Given the description of an element on the screen output the (x, y) to click on. 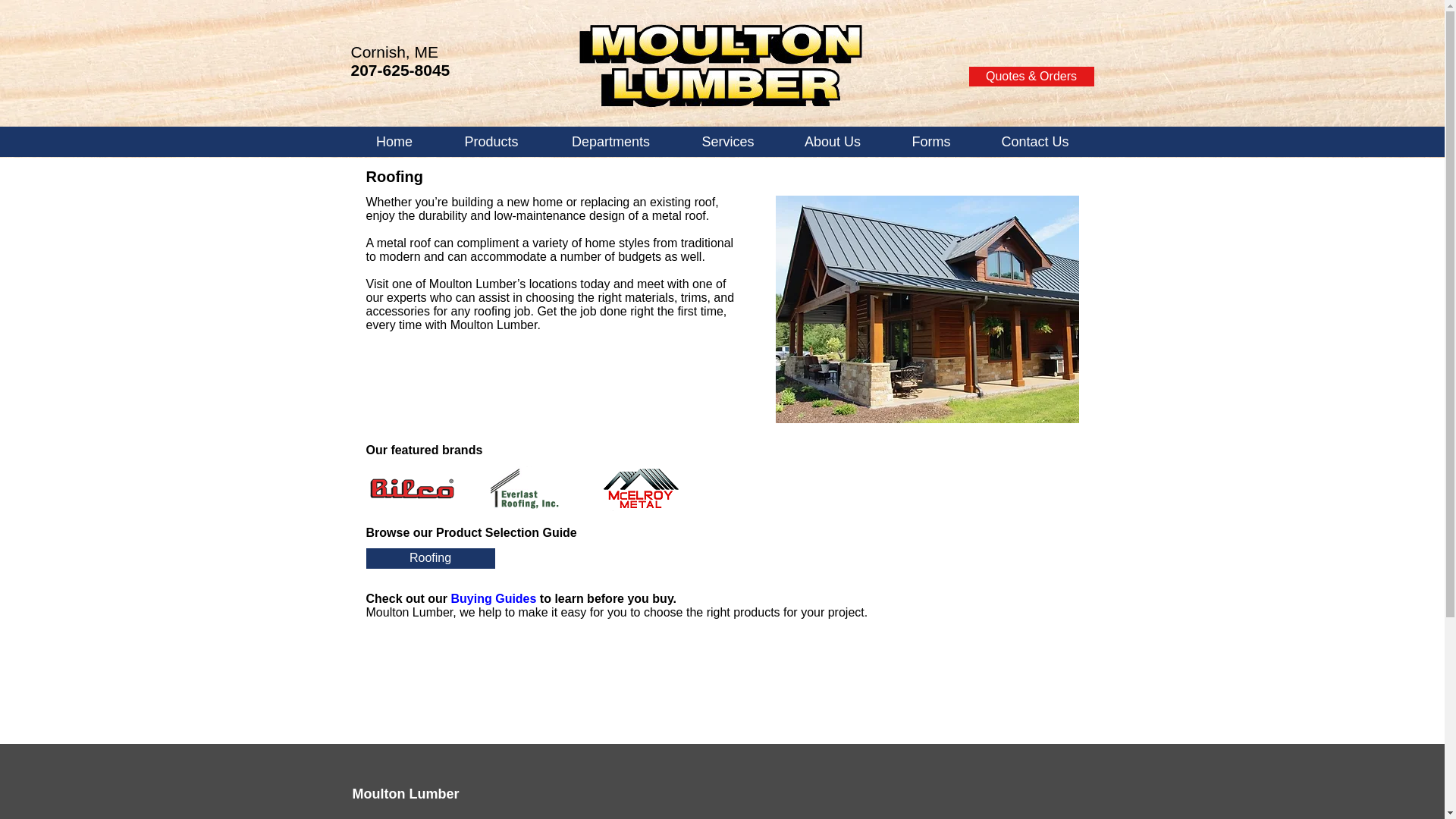
Services (727, 141)
Click image for Everlast Roofing products (524, 488)
Roofing (430, 557)
207-625-8045 (399, 69)
Click image for McElroy products (638, 488)
Click image for Bilco products (411, 488)
Buying Guides (494, 598)
Image of Moulton Lumber logo. Click to return home. (719, 65)
Home (394, 141)
Contact Us (1034, 141)
About Us (831, 141)
